Given the description of an element on the screen output the (x, y) to click on. 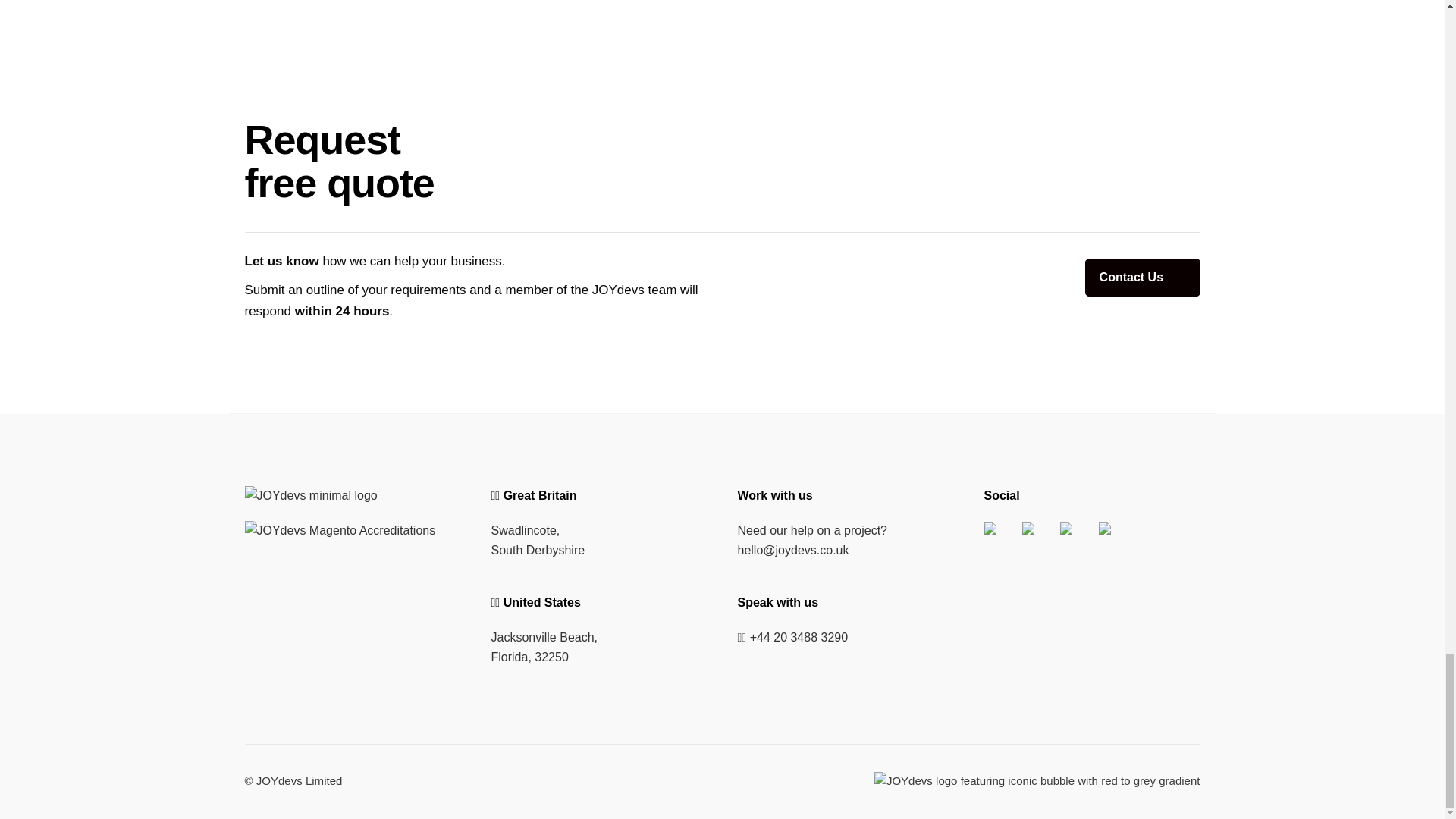
Contact Us (1141, 277)
